Given the description of an element on the screen output the (x, y) to click on. 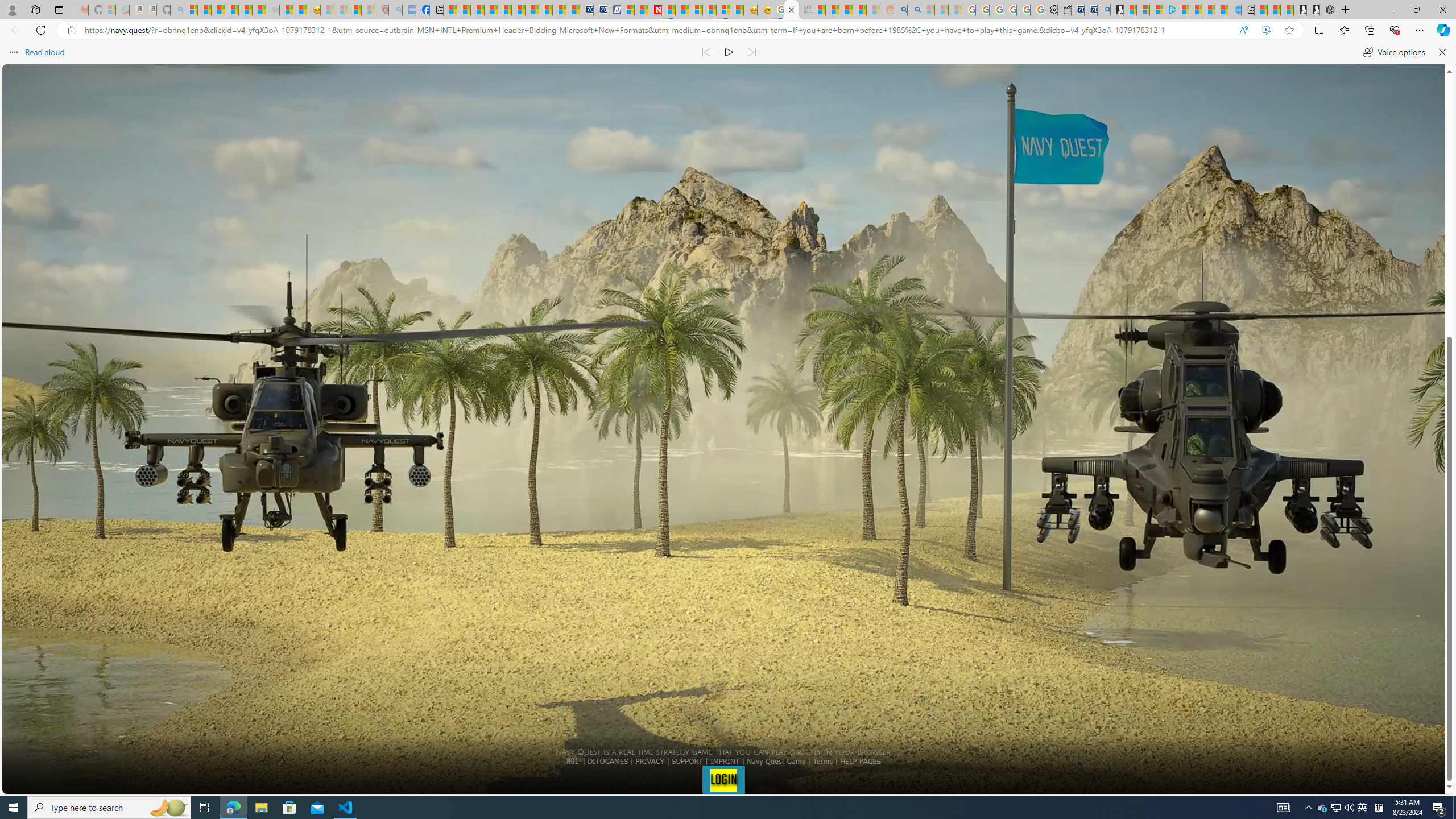
Read previous paragraph (705, 52)
SUPPORT (687, 760)
Continue to read aloud (Ctrl+Shift+U) (729, 52)
